Given the description of an element on the screen output the (x, y) to click on. 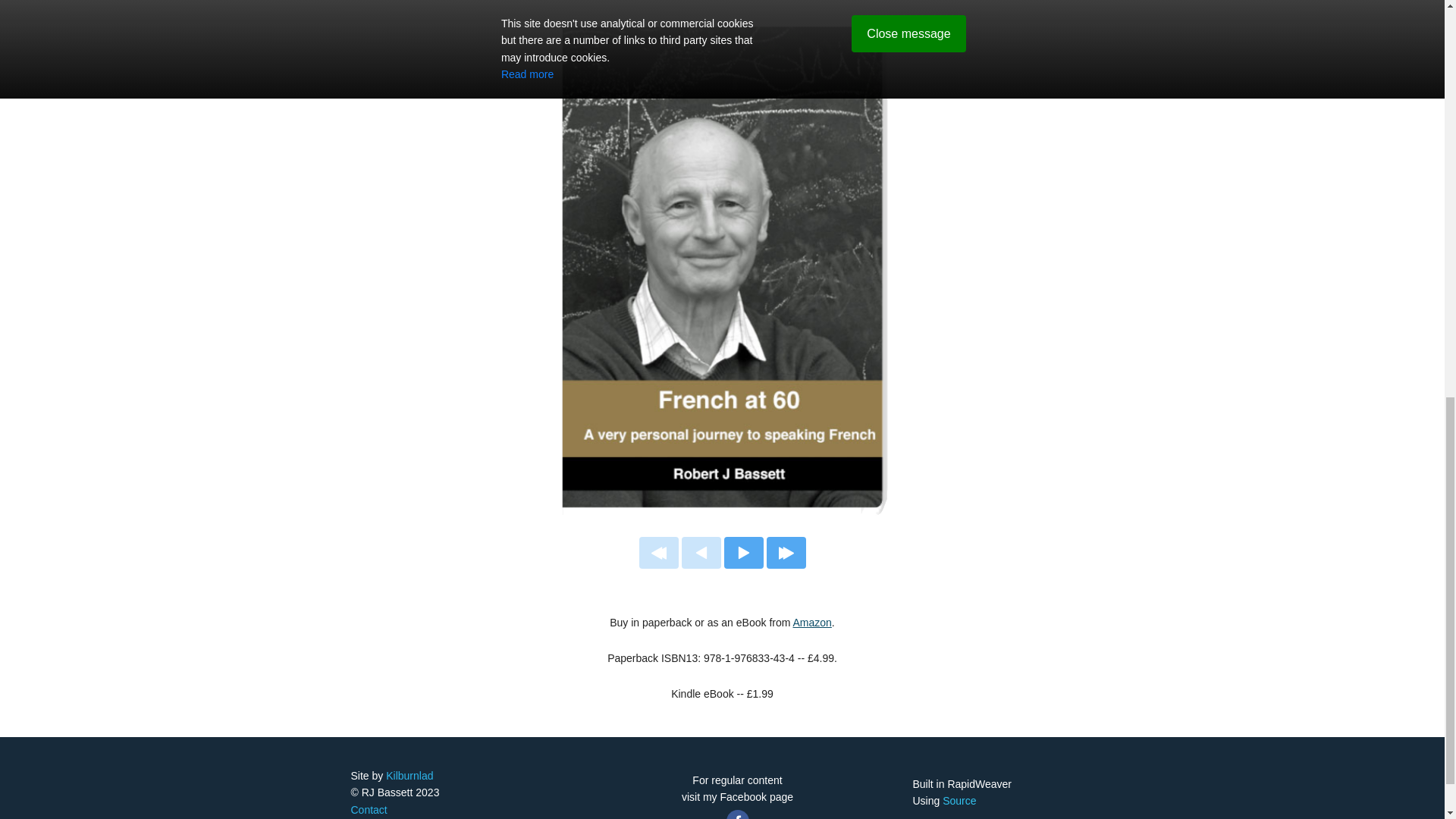
Kilburnlad (408, 775)
Source (958, 800)
Amazon (812, 622)
Contact (368, 809)
